Given the description of an element on the screen output the (x, y) to click on. 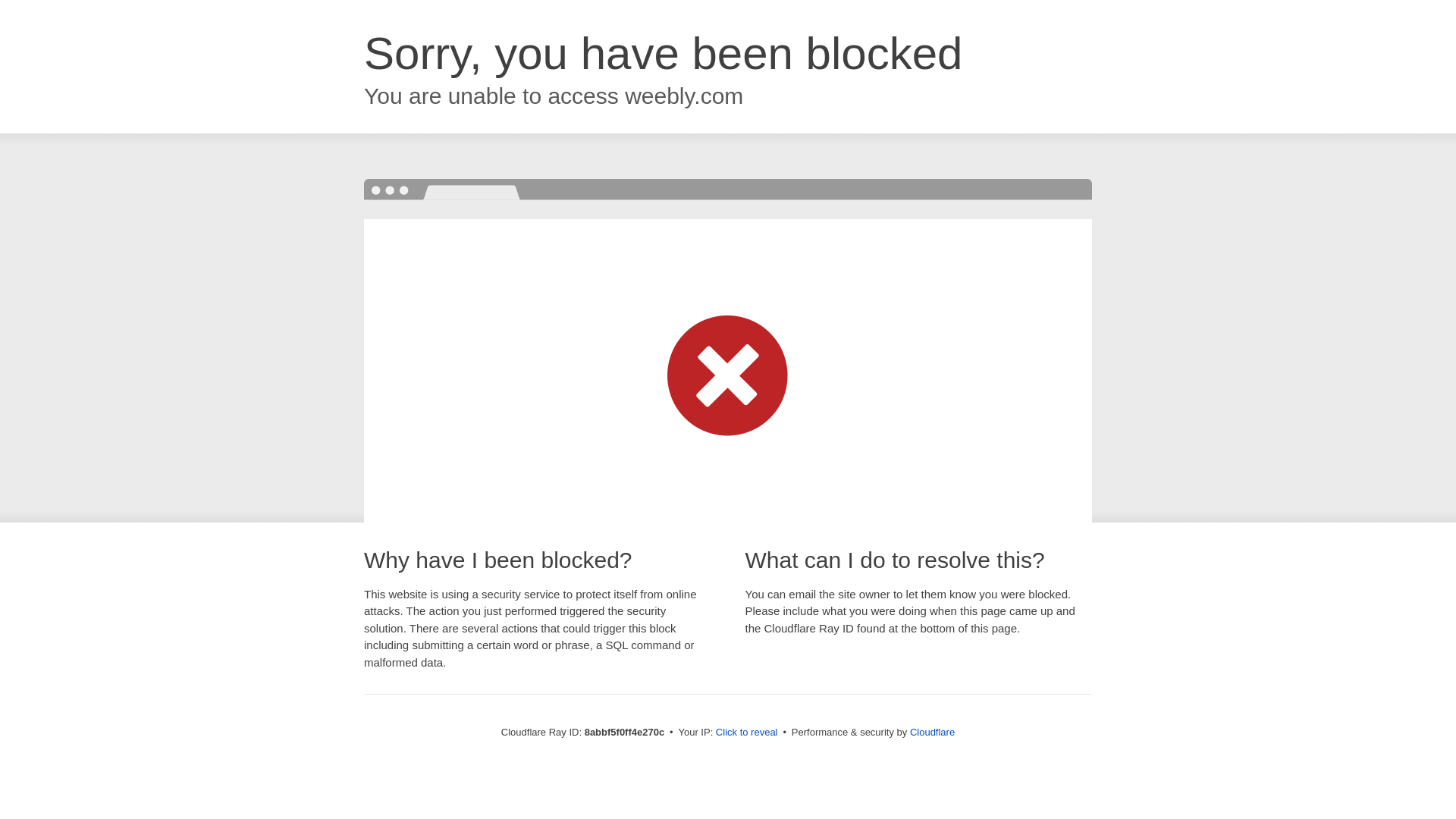
Click to reveal (746, 732)
Cloudflare (932, 731)
